Given the description of an element on the screen output the (x, y) to click on. 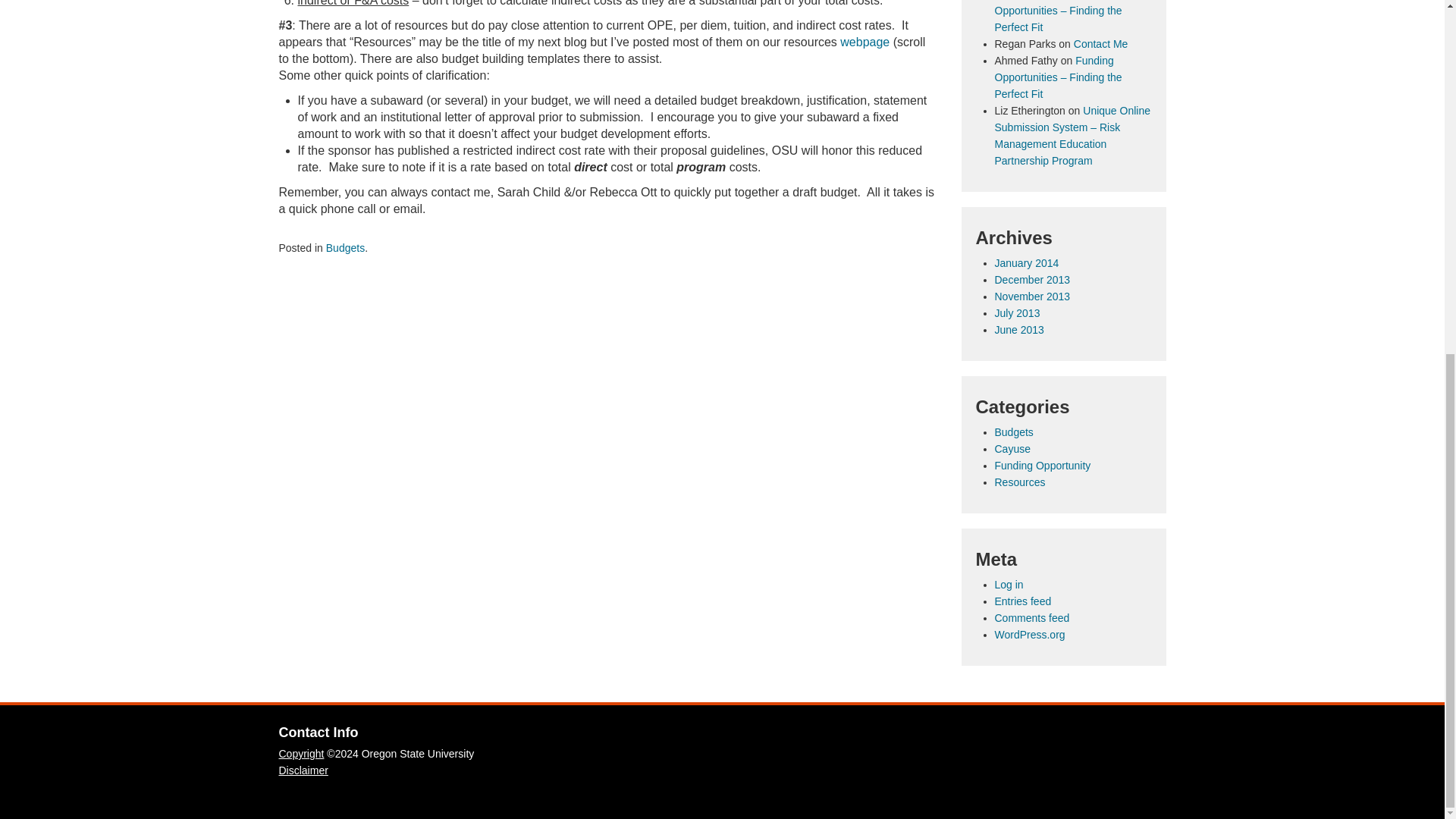
December 2013 (1032, 279)
January 2014 (1026, 263)
July 2013 (1017, 313)
June 2013 (1018, 329)
November 2013 (1032, 296)
WordPress.org (1029, 634)
webpage (864, 42)
Resources (1019, 481)
Budgets (345, 247)
Comments feed (1032, 617)
